Given the description of an element on the screen output the (x, y) to click on. 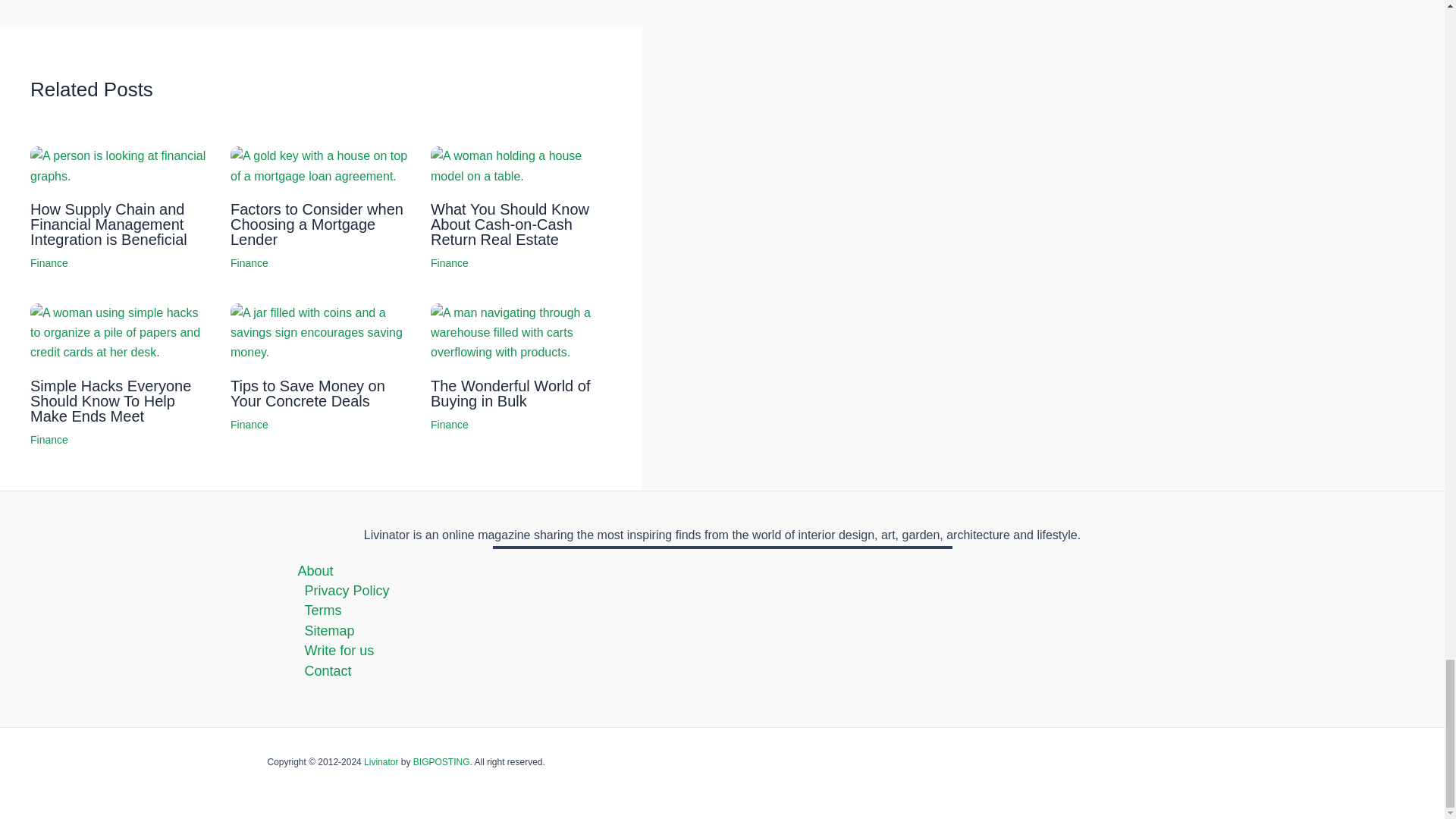
BIGPOSTING (441, 761)
